Given the description of an element on the screen output the (x, y) to click on. 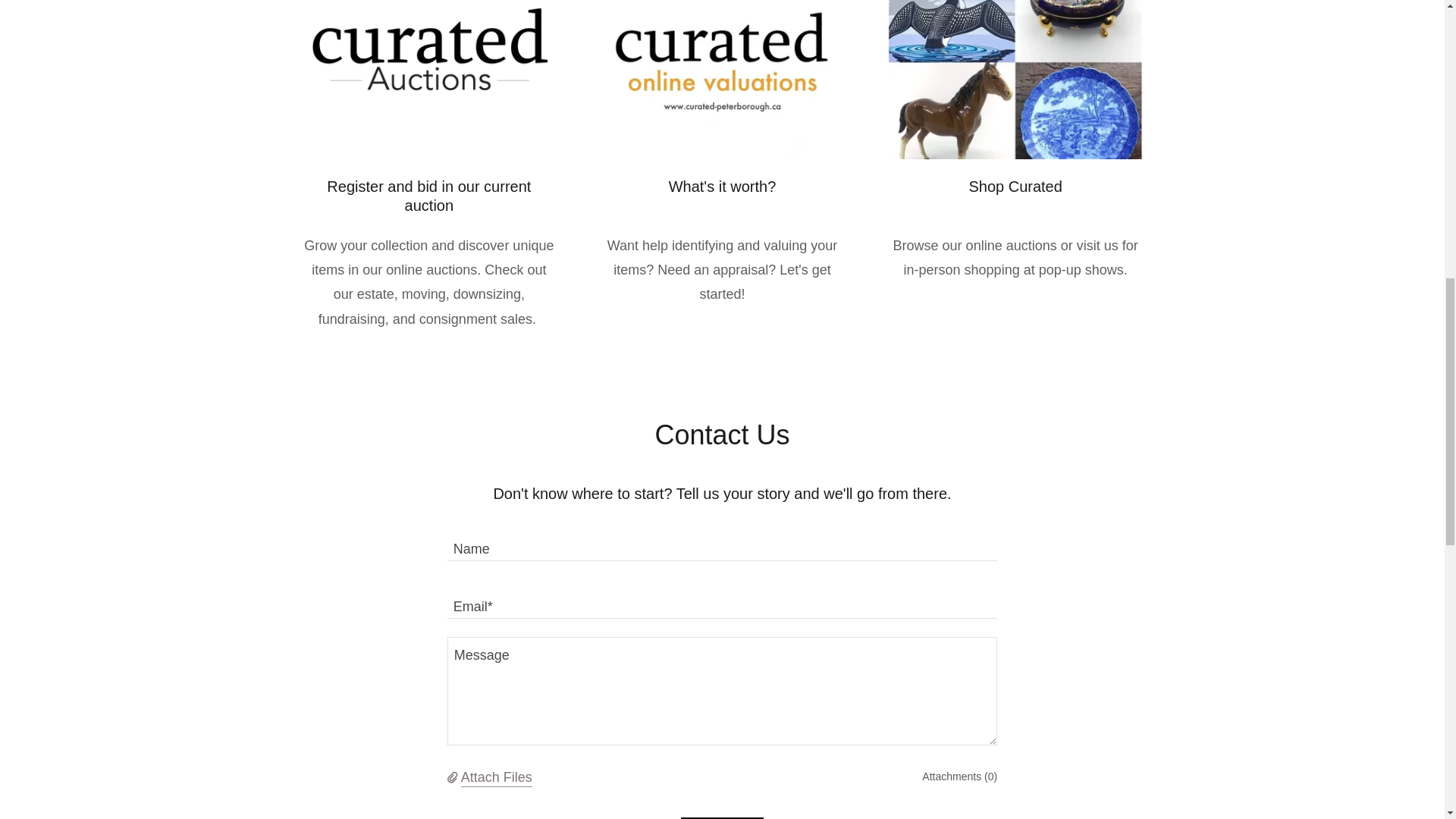
Send (721, 818)
